Given the description of an element on the screen output the (x, y) to click on. 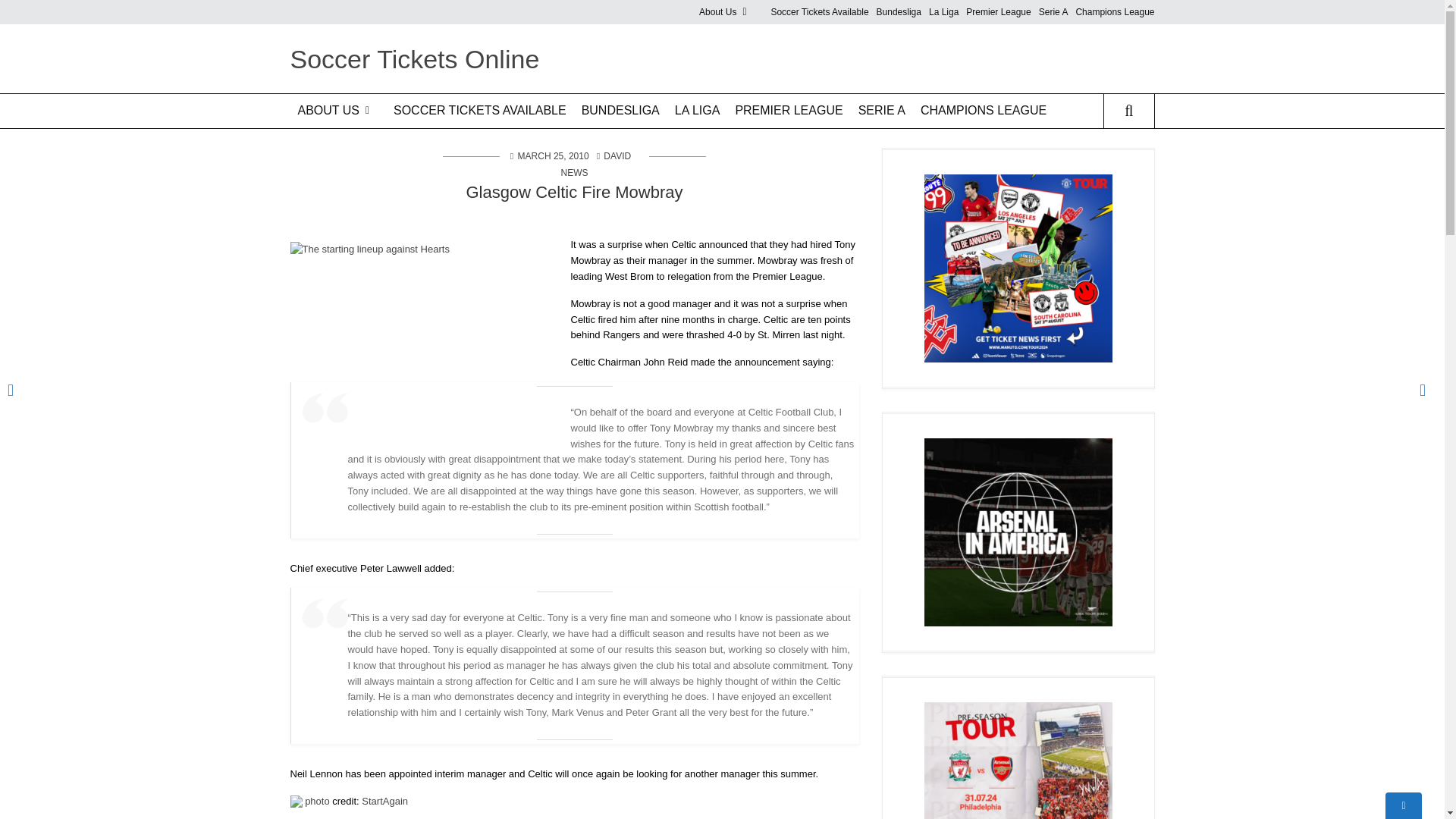
LA LIGA (697, 110)
CHAMPIONS LEAGUE (983, 110)
Terms Of Use (346, 147)
Serie A (1053, 12)
MARCH 25, 2010 (553, 155)
Privacy (346, 173)
ABOUT US (337, 110)
La Liga (943, 12)
Privacy (755, 70)
StartAgain (384, 800)
